Given the description of an element on the screen output the (x, y) to click on. 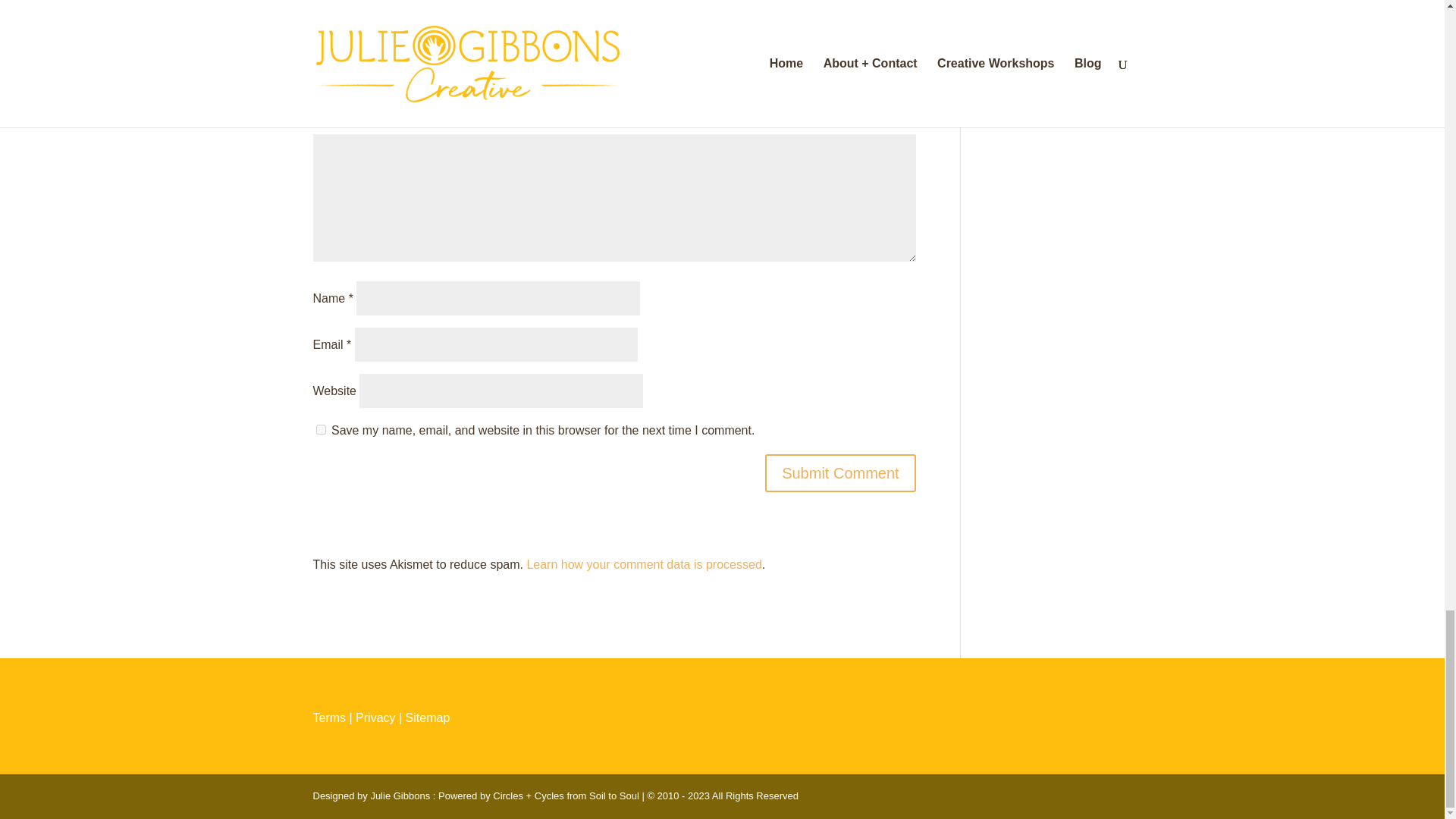
Learn how your comment data is processed (643, 563)
Submit Comment (840, 473)
Terms (329, 717)
yes (319, 429)
Submit Comment (840, 473)
Privacy (374, 717)
Sitemap (427, 717)
